Given the description of an element on the screen output the (x, y) to click on. 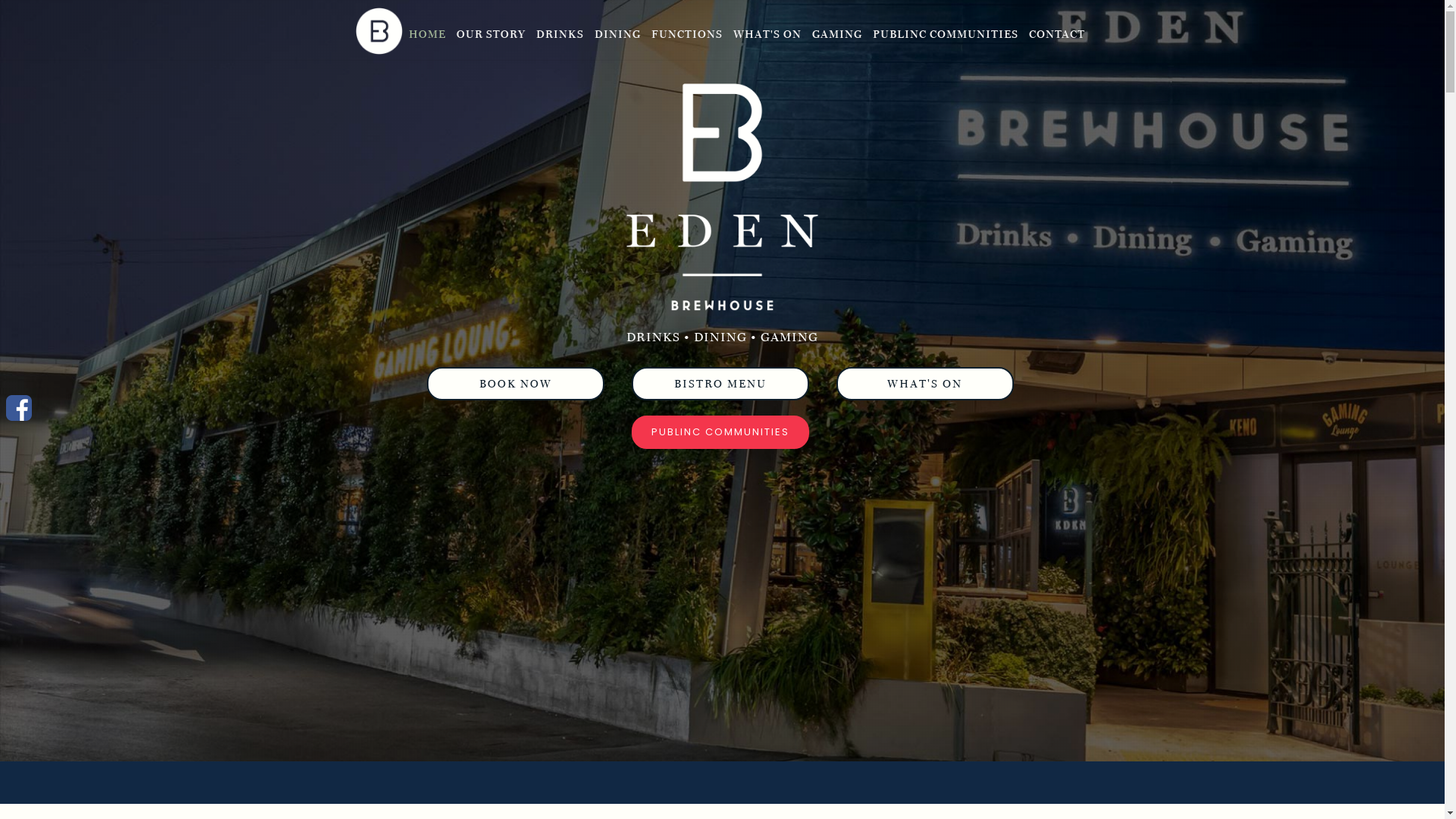
DINING Element type: text (617, 33)
WHAT'S ON Element type: text (924, 383)
BOOK NOW Element type: text (514, 383)
CONTACT Element type: text (1055, 33)
GAMING Element type: text (836, 33)
HOME Element type: text (426, 33)
FUNCTIONS Element type: text (686, 33)
DRINKS Element type: text (558, 33)
PUBLINC COMMUNITIES Element type: text (720, 431)
PUBLINC COMMUNITIES Element type: text (944, 33)
BISTRO MENU Element type: text (720, 383)
OUR STORY Element type: text (490, 33)
WHAT'S ON Element type: text (766, 33)
